Given the description of an element on the screen output the (x, y) to click on. 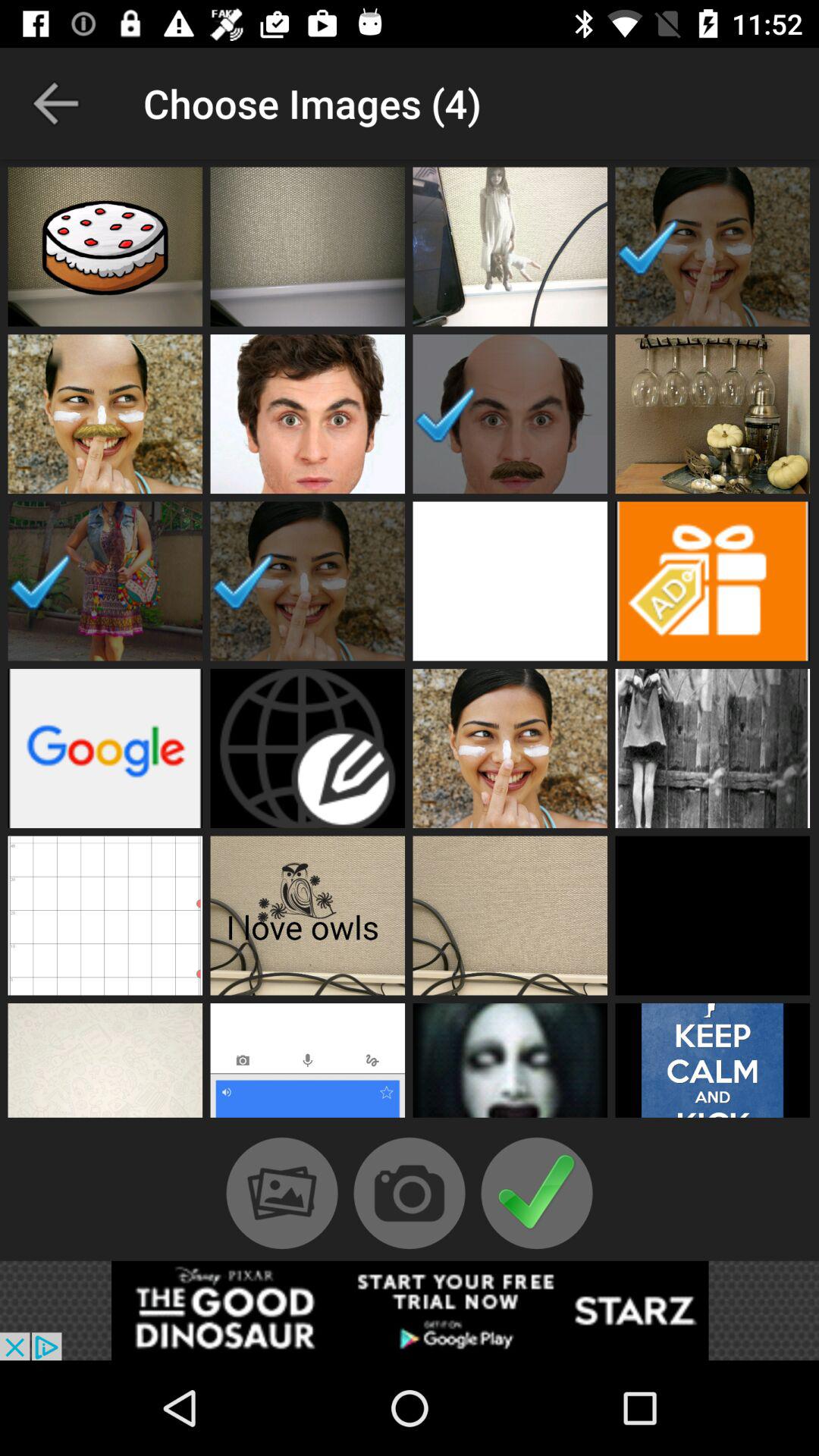
tap to choose this picture (307, 246)
